Given the description of an element on the screen output the (x, y) to click on. 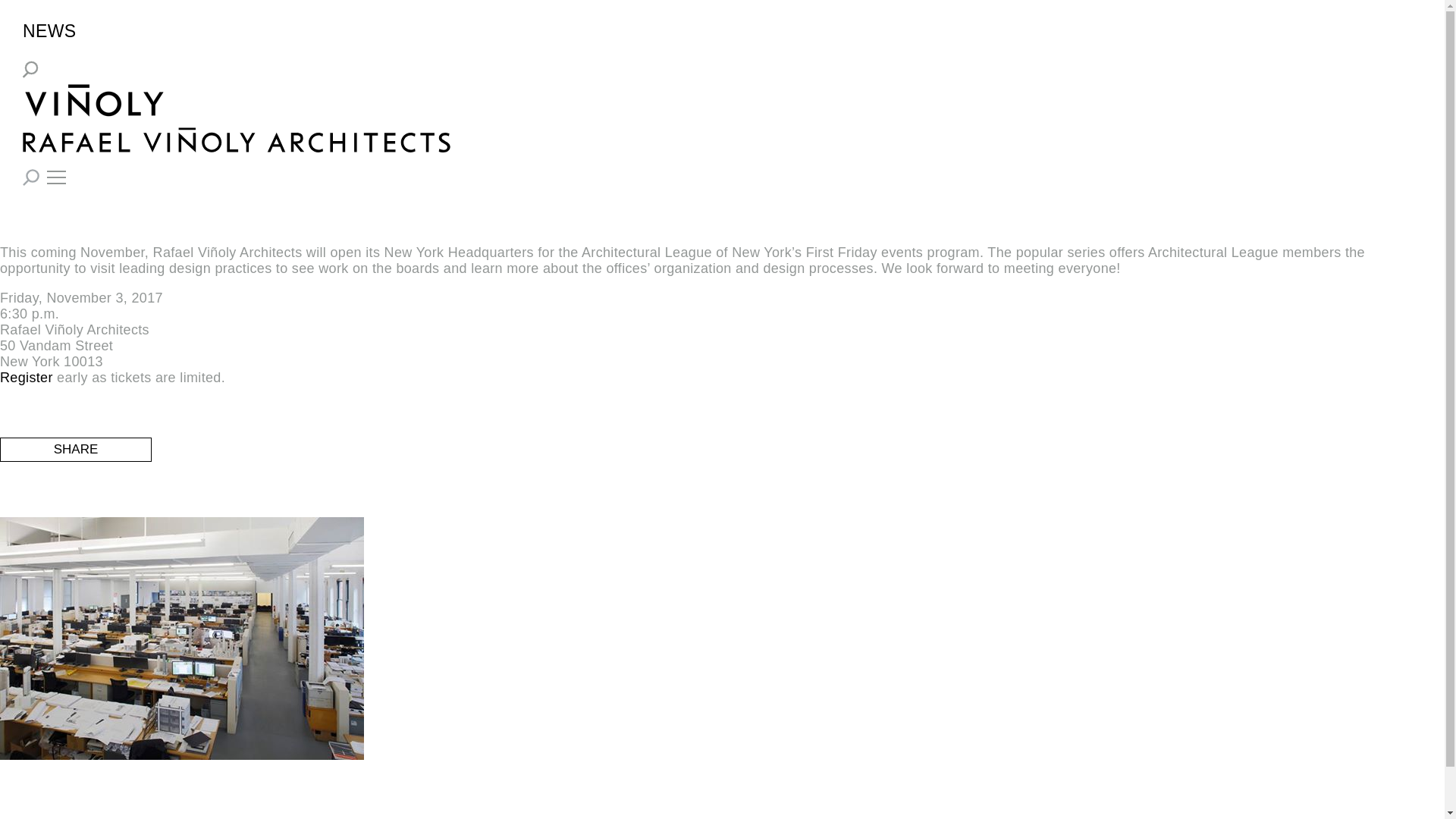
LATEST NEWS (58, 75)
NEWS (49, 32)
SHARE (75, 449)
Register (26, 377)
ARCHIVE (116, 75)
